Given the description of an element on the screen output the (x, y) to click on. 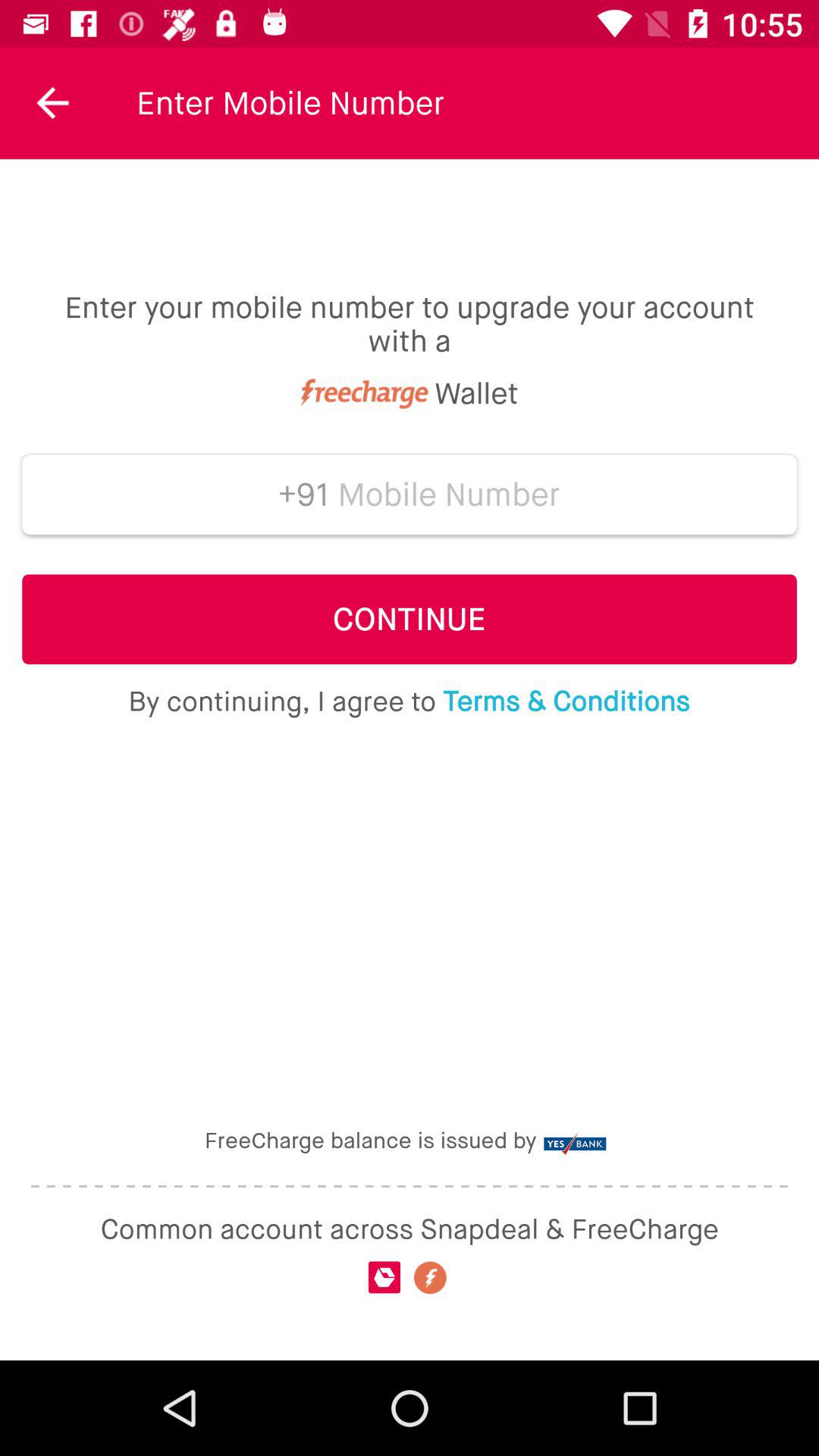
go back (52, 102)
